Given the description of an element on the screen output the (x, y) to click on. 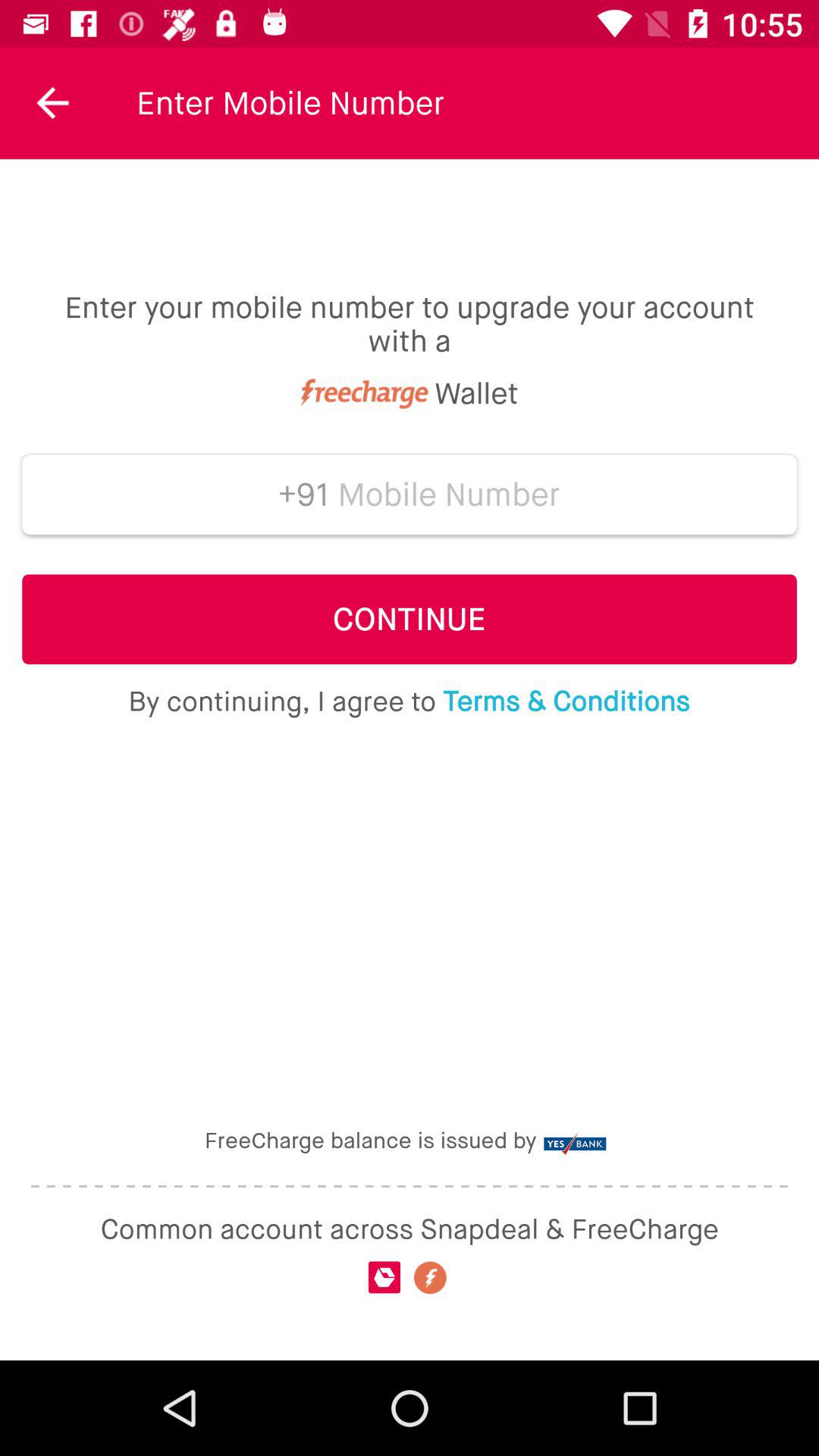
go back (52, 102)
